Given the description of an element on the screen output the (x, y) to click on. 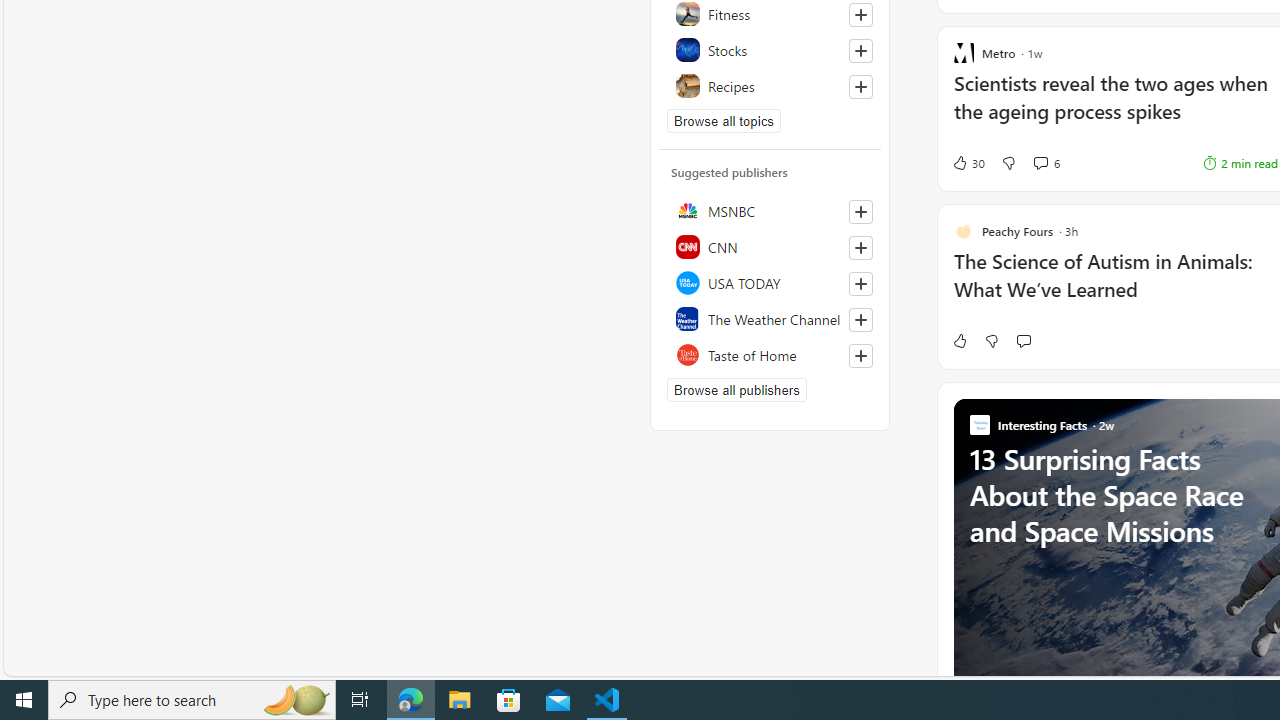
Follow this source (860, 355)
Browse all topics (724, 120)
Follow this source (860, 355)
View comments 6 Comment (1045, 162)
Recipes (770, 85)
Taste of Home (770, 354)
